Given the description of an element on the screen output the (x, y) to click on. 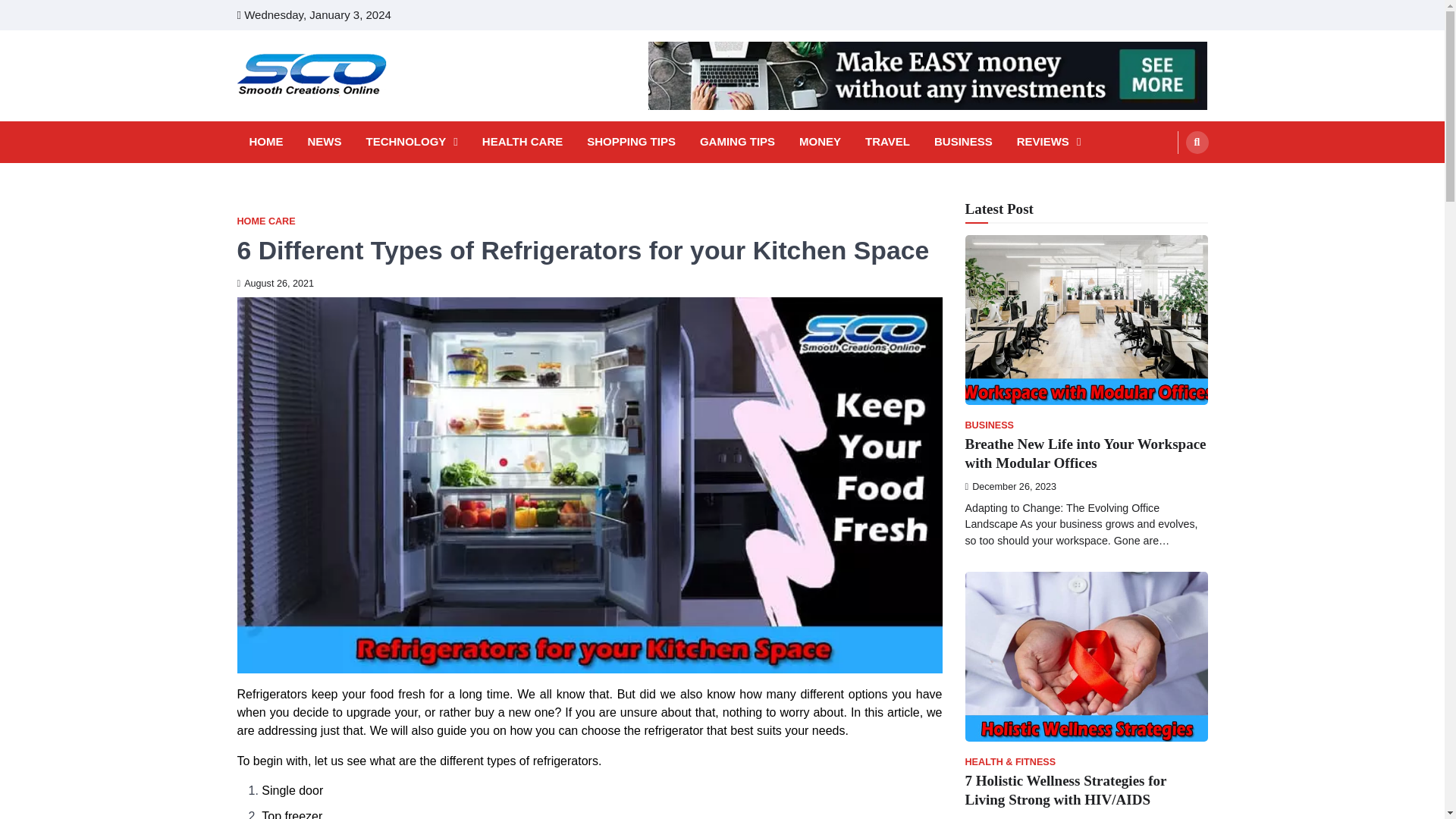
smoothcreationsonline (358, 116)
SHOPPING TIPS (630, 141)
Breathe New Life into Your Workspace with Modular Offices (1084, 452)
August 26, 2021 (274, 283)
December 26, 2023 (1010, 486)
BUSINESS (963, 141)
NEWS (324, 141)
MONEY (820, 141)
Search (1168, 177)
HEALTH CARE (522, 141)
Search (1197, 142)
BUSINESS (988, 425)
REVIEWS (1048, 141)
HOME (265, 141)
TECHNOLOGY (411, 141)
